Given the description of an element on the screen output the (x, y) to click on. 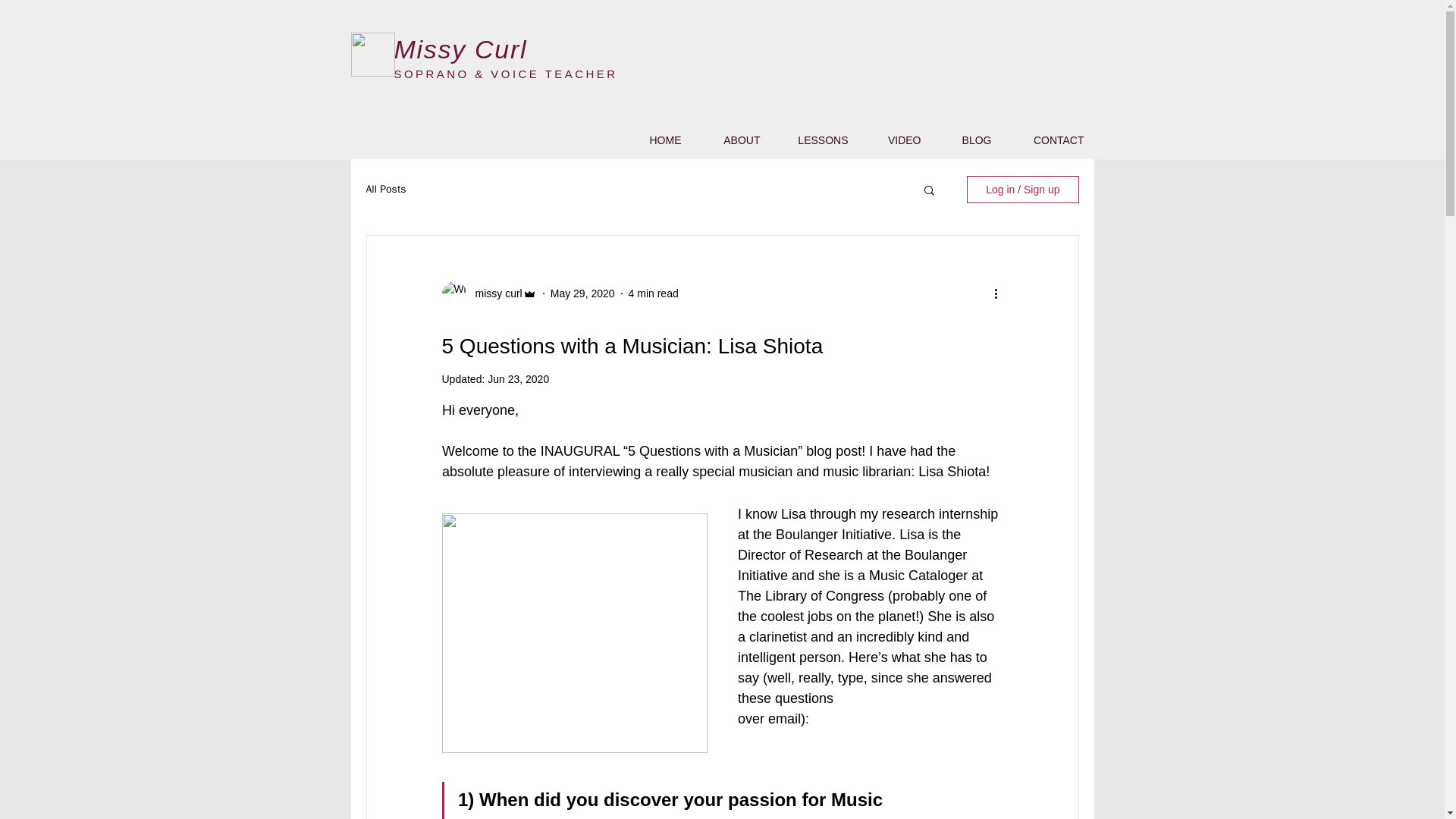
VIDEO (895, 139)
All Posts (385, 189)
HOME (653, 139)
4 min read (653, 292)
ABOUT (730, 139)
May 29, 2020 (582, 292)
CONTACT (1047, 139)
BLOG (966, 139)
Missy Curl (460, 49)
LESSONS (814, 139)
